Given the description of an element on the screen output the (x, y) to click on. 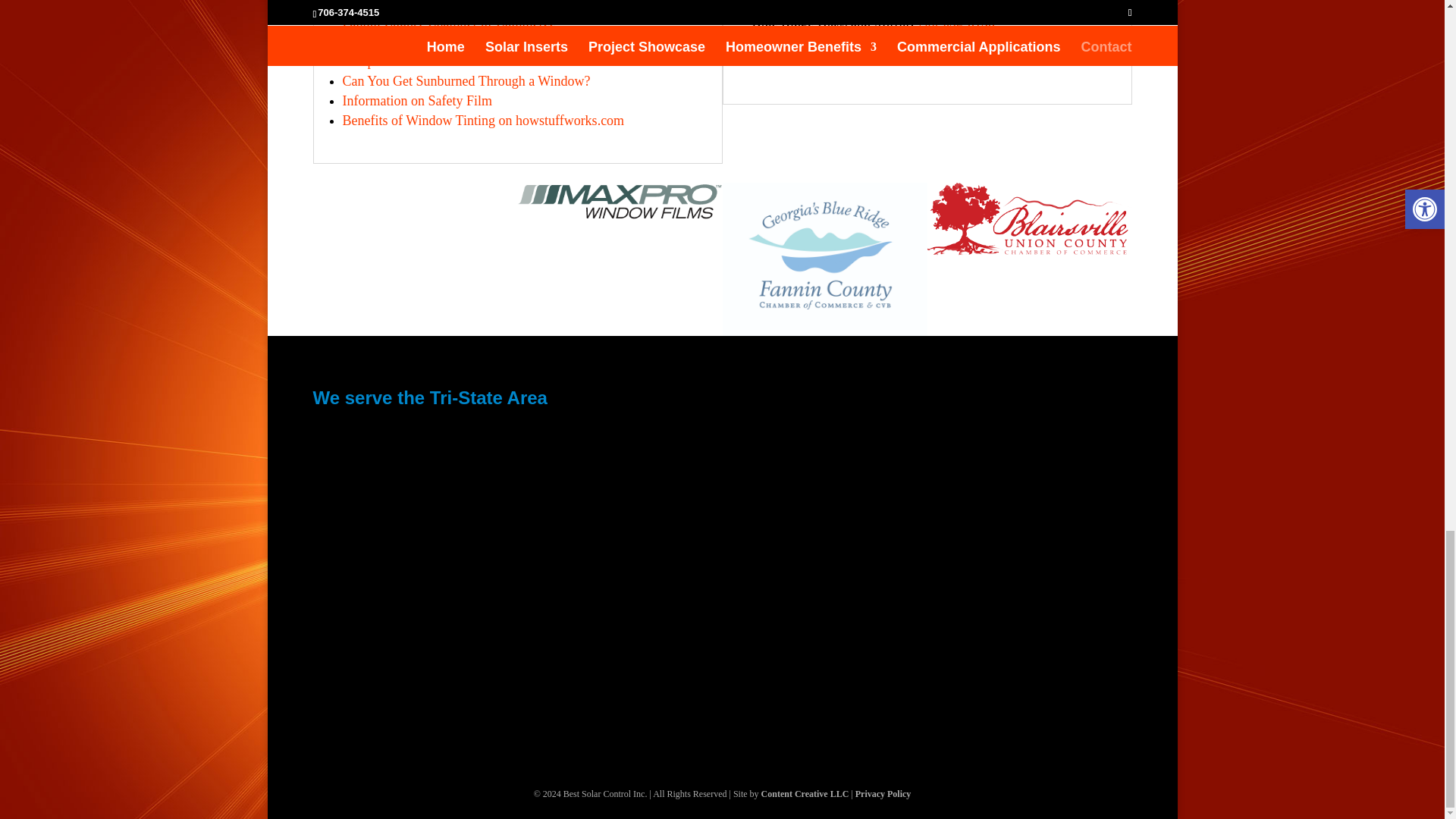
GA Home Builders (871, 41)
Blue Ridge Travel Guide: Directions (442, 4)
Can You Get Sunburned Through a Window? (466, 80)
Fannin County Chamber of Commerce (449, 21)
WSJ Article on Window Decorating Trends (417, 100)
Blairsville-Union County Chamber of Commerce (477, 41)
Fannin County Chamber of Commerce (449, 21)
Madico Windoow Film Website (429, 61)
Can You Get Sunburned Through a Window? (466, 80)
Union Chamber (477, 41)
PDF Summary of the Energy Policy Act of 2005 (483, 120)
Maxpro Window Films Website (429, 61)
